Given the description of an element on the screen output the (x, y) to click on. 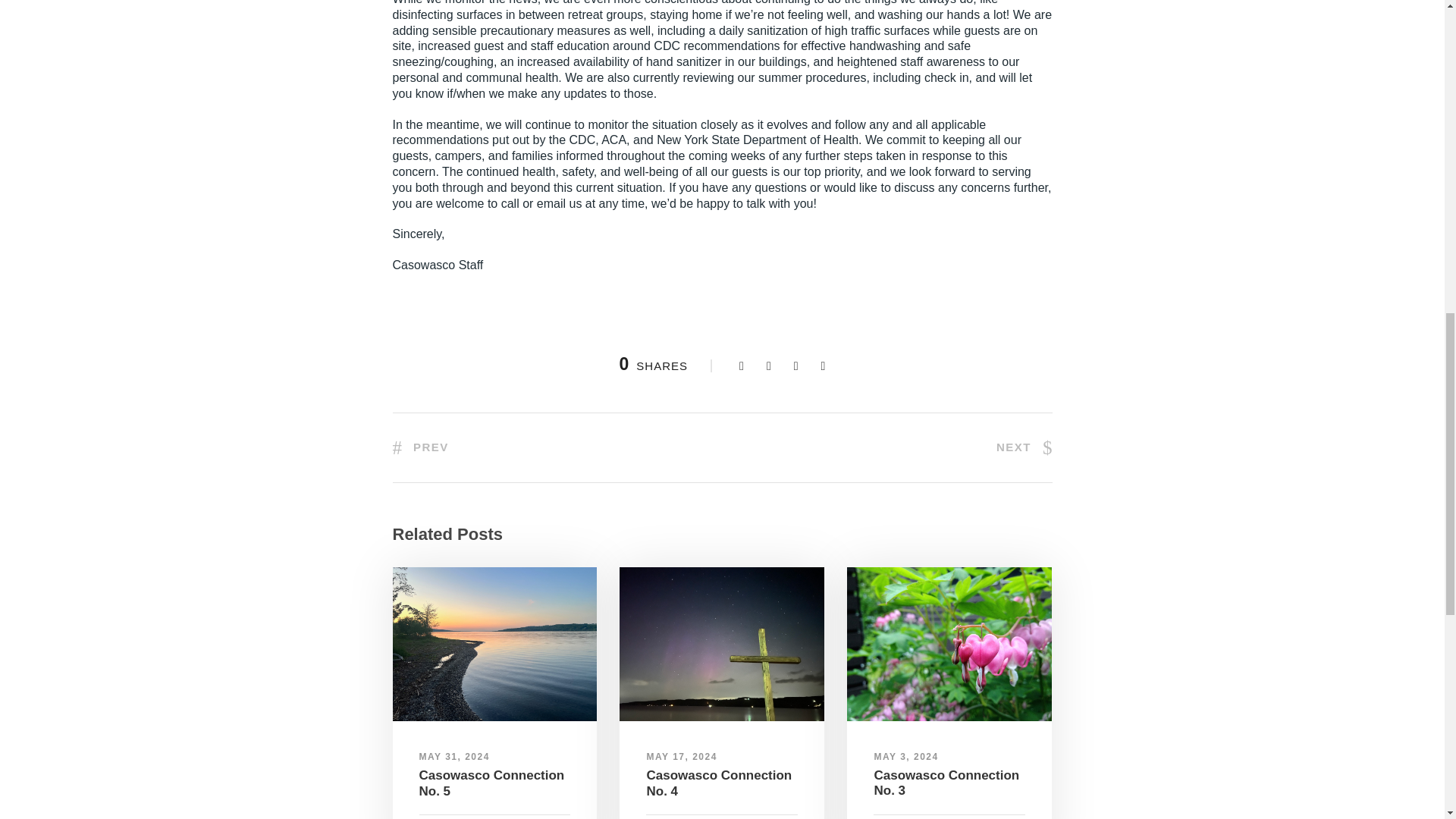
Northern Lights (722, 643)
i-TXRk2vS-XL (949, 643)
